Given the description of an element on the screen output the (x, y) to click on. 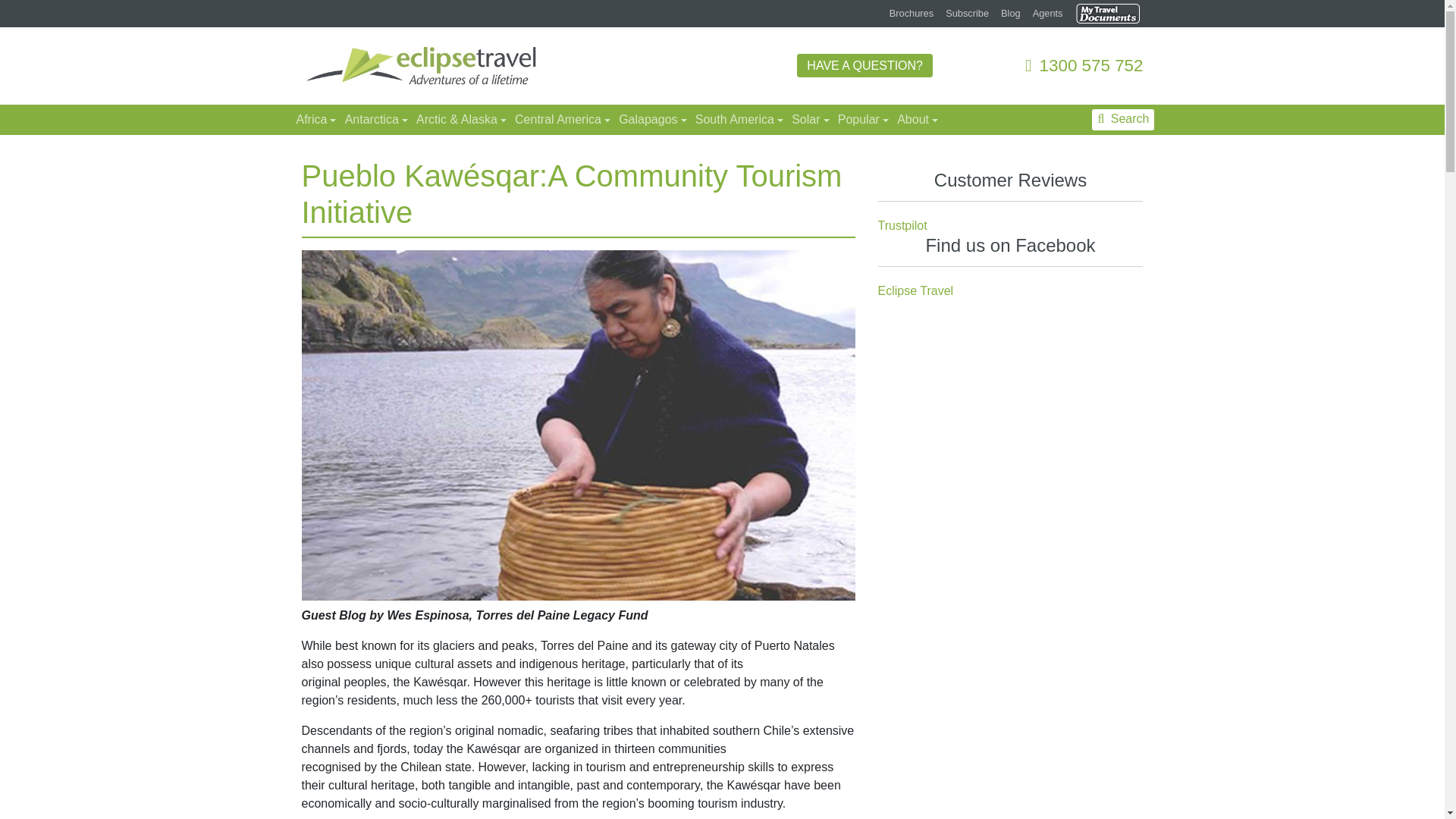
Brochures Element type: text (911, 13)
Arctic & Alaska Element type: text (459, 119)
Antarctica Element type: text (374, 119)
Search Element type: text (1123, 119)
Popular Element type: text (861, 119)
1300 575 752 Element type: text (1083, 65)
Blog Element type: text (1010, 13)
Eclipse Travel Element type: text (915, 290)
Subscribe Element type: text (966, 13)
Agents Element type: text (1047, 13)
HAVE A QUESTION? Element type: text (864, 65)
Skip to content Element type: text (1443, 0)
Galapagos Element type: text (650, 119)
Africa Element type: text (313, 119)
Central America Element type: text (560, 119)
About Element type: text (915, 119)
South America Element type: text (737, 119)
Trustpilot Element type: text (902, 225)
Solar Element type: text (808, 119)
Eclipse Travel Element type: hover (421, 64)
